Given the description of an element on the screen output the (x, y) to click on. 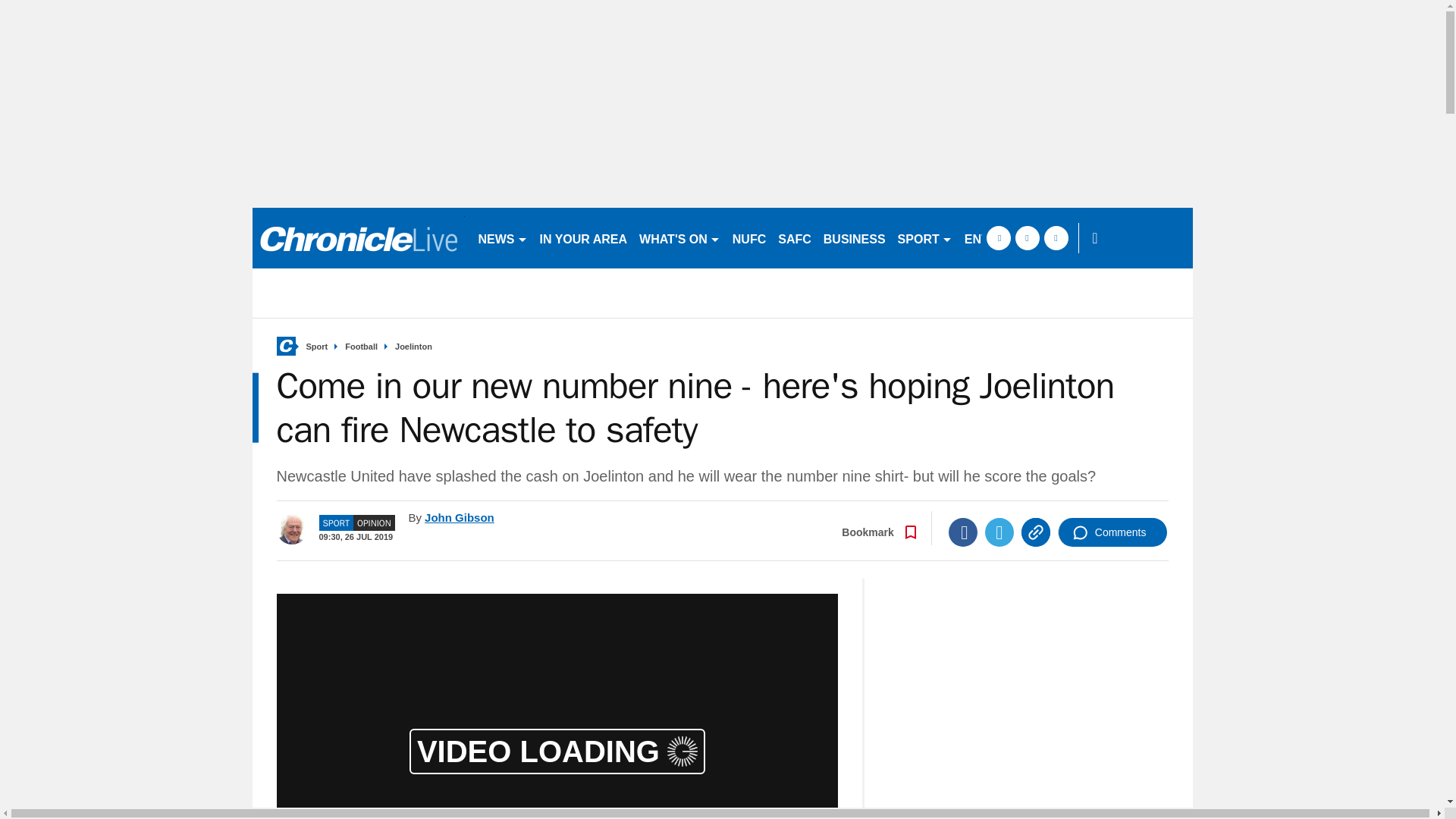
BUSINESS (853, 238)
twitter (1026, 238)
instagram (1055, 238)
SPORT (924, 238)
NEWS (501, 238)
nechronicle (357, 238)
Facebook (962, 532)
IN YOUR AREA (583, 238)
Twitter (999, 532)
Comments (1112, 532)
